Given the description of an element on the screen output the (x, y) to click on. 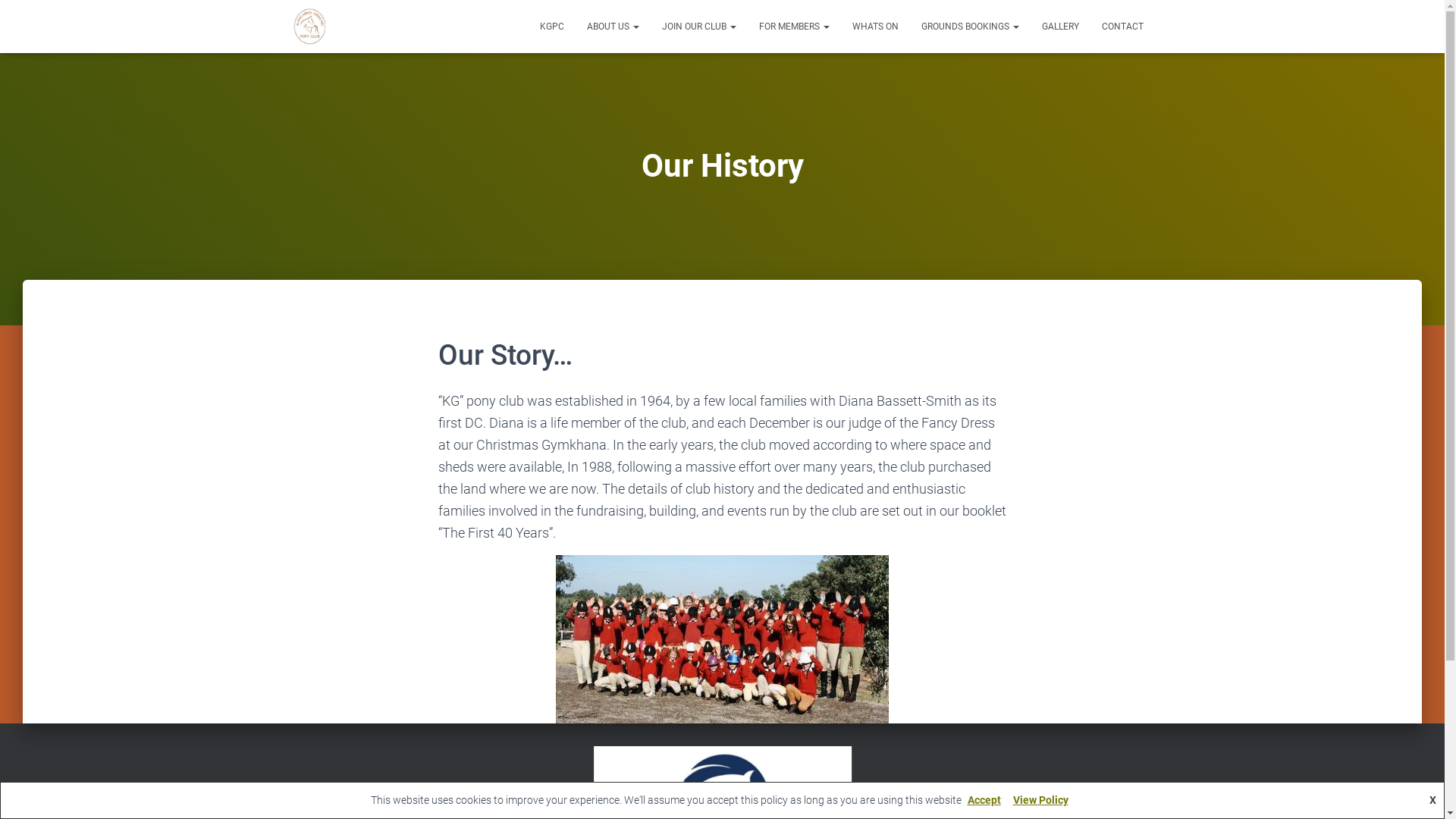
FOR MEMBERS Element type: text (793, 26)
GROUNDS BOOKINGS Element type: text (970, 26)
KGPC Element type: text (550, 26)
CONTACT Element type: text (1122, 26)
GALLERY Element type: text (1059, 26)
WHATS ON Element type: text (874, 26)
Kangaroo Ground Pony Club Element type: hover (309, 26)
JOIN OUR CLUB Element type: text (698, 26)
ABOUT US Element type: text (611, 26)
Accept Element type: text (984, 799)
View Policy Element type: text (1040, 799)
